Given the description of an element on the screen output the (x, y) to click on. 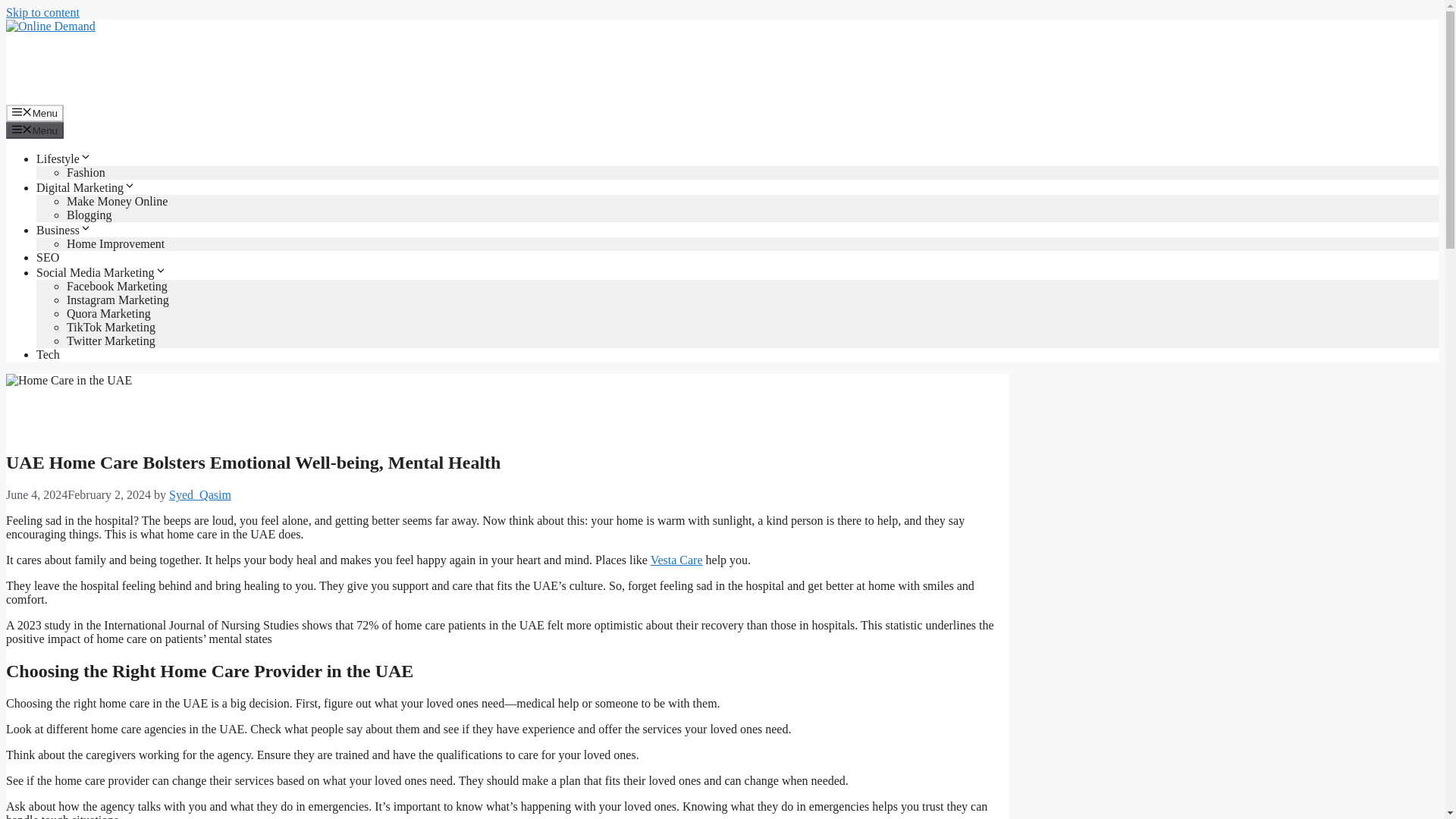
Menu (34, 112)
Lifestyle (63, 158)
Skip to content (42, 11)
Social Media Marketing (101, 272)
Menu (34, 130)
Make Money Online (116, 201)
Twitter Marketing (110, 340)
Syed  Qasim (199, 494)
Digital Marketing (85, 187)
SEO (47, 256)
Instagram Marketing (117, 299)
Skip to content (42, 11)
Quora Marketing (108, 313)
Home Improvement (115, 243)
Tech (47, 354)
